Given the description of an element on the screen output the (x, y) to click on. 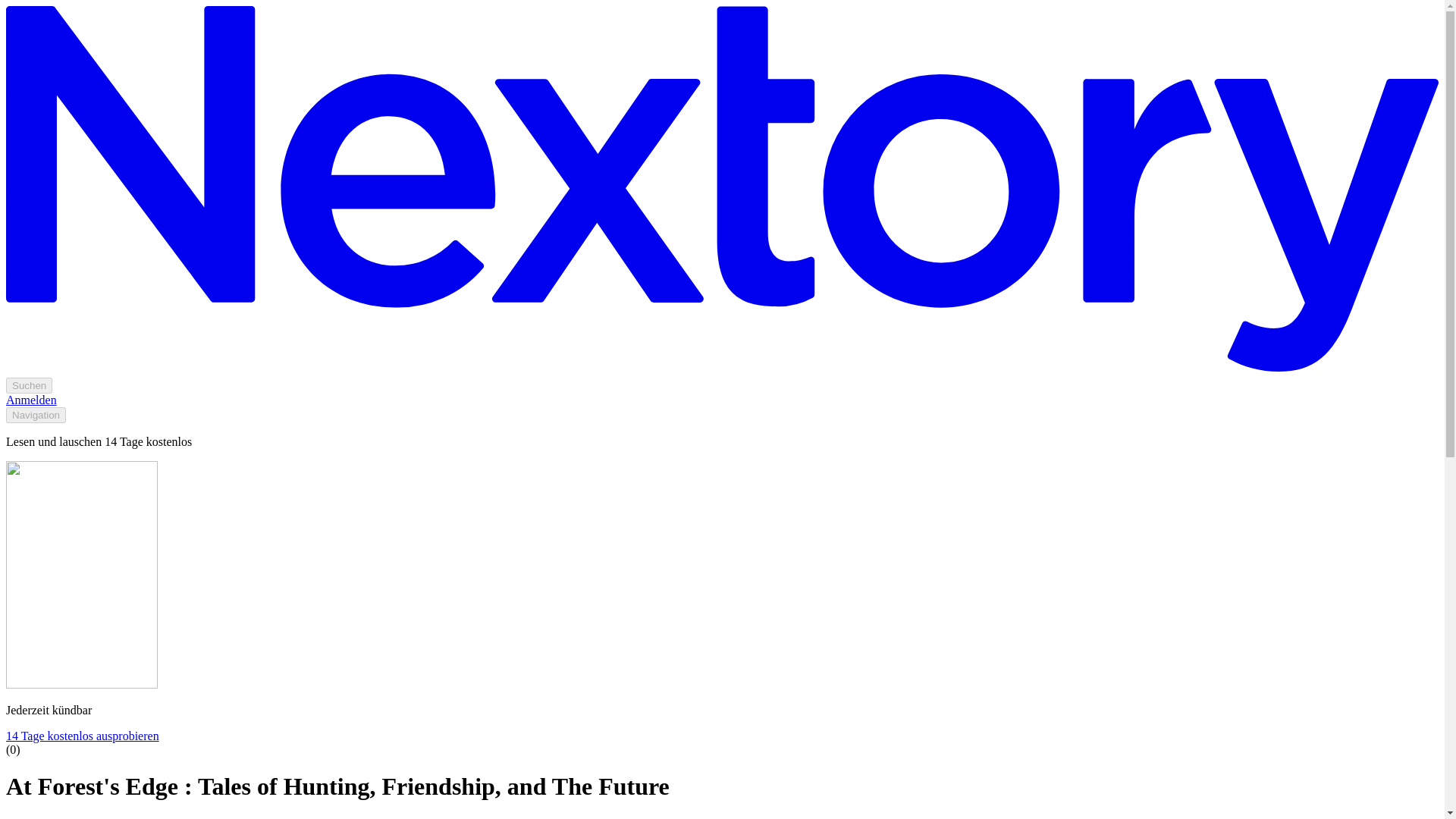
Navigation (35, 415)
Anmelden (30, 399)
Suchen (28, 385)
